Given the description of an element on the screen output the (x, y) to click on. 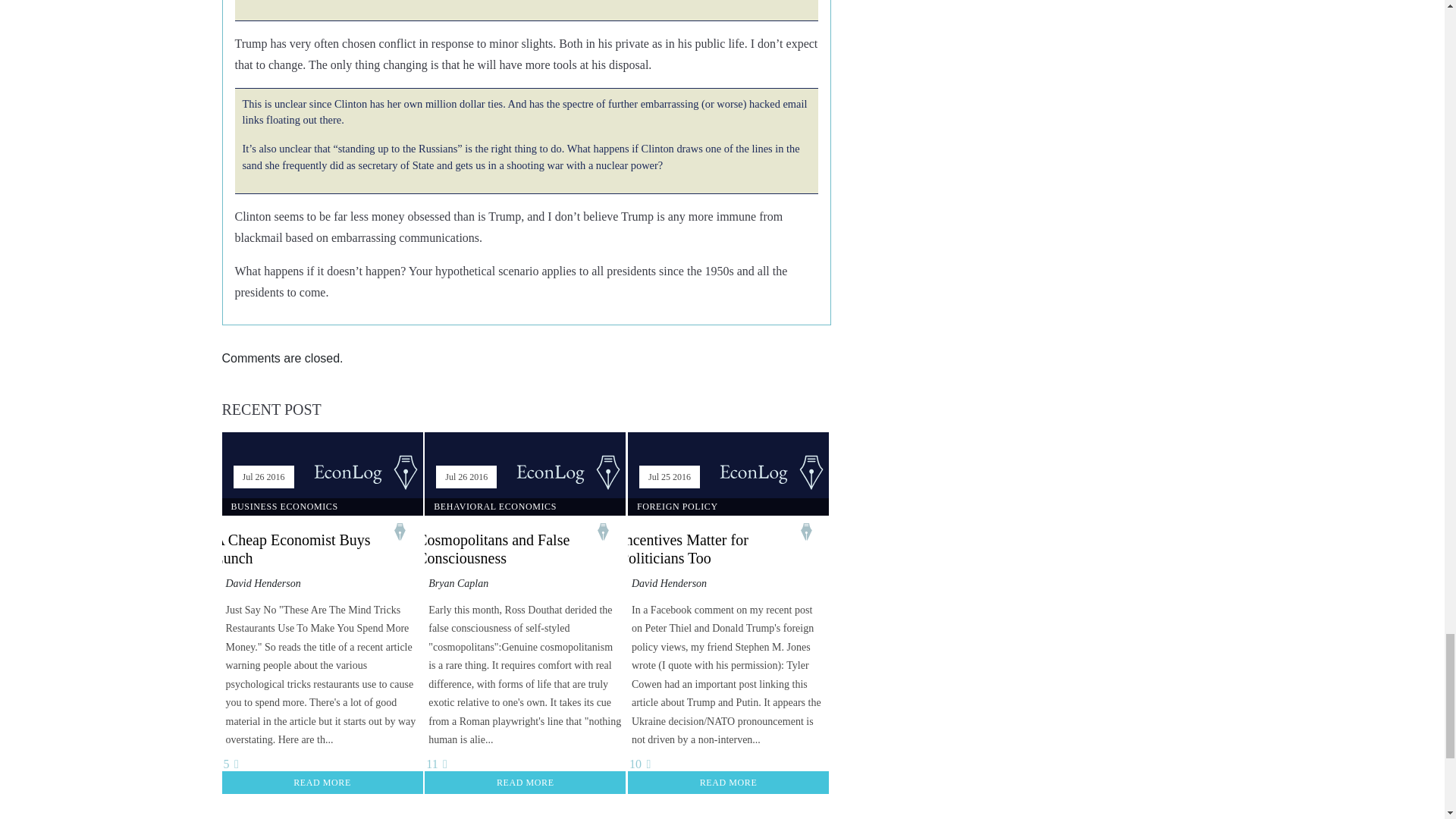
David Henderson (263, 583)
Bryan Caplan (457, 583)
David Henderson (668, 583)
